Given the description of an element on the screen output the (x, y) to click on. 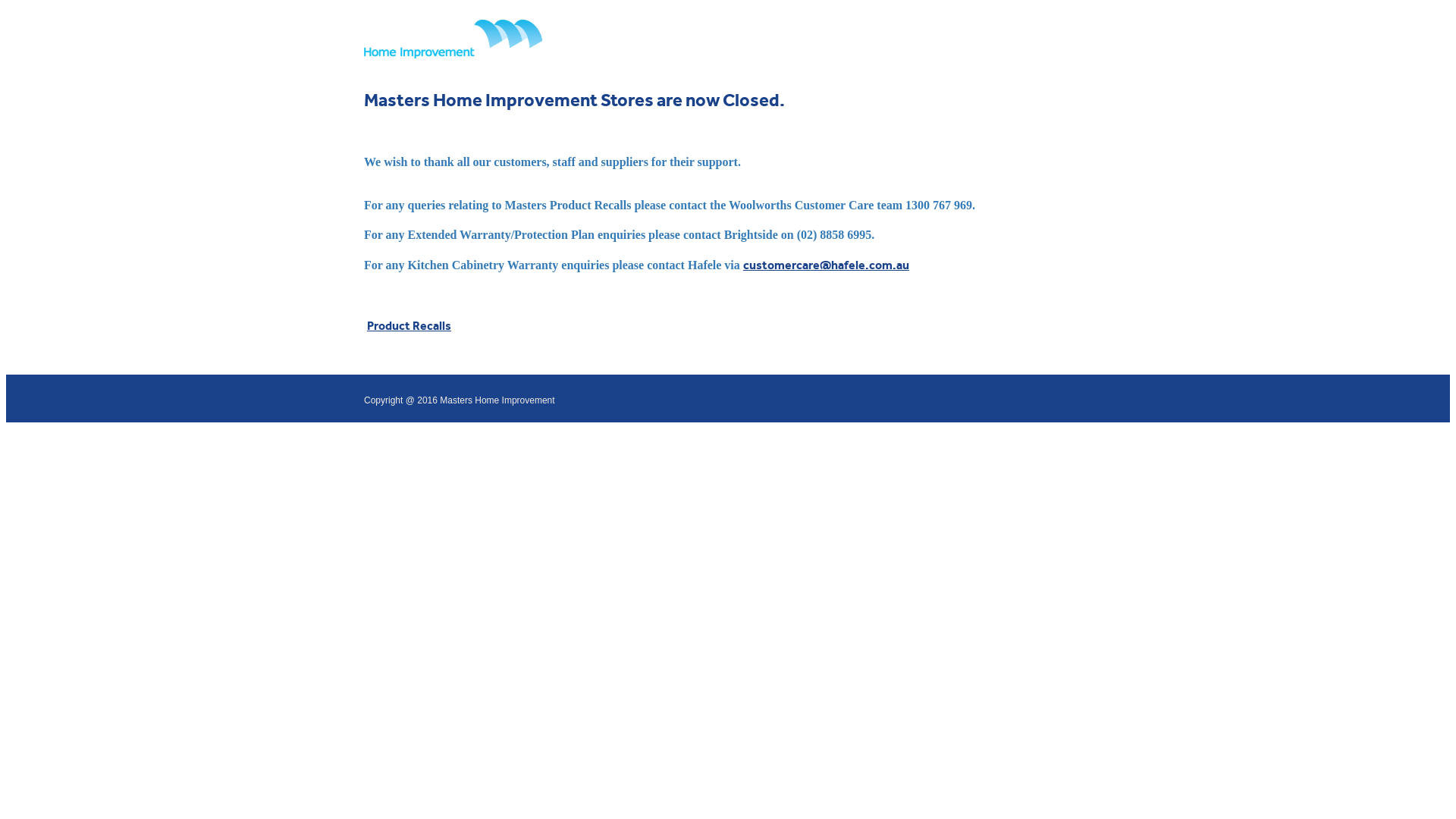
Product Recalls Element type: text (409, 325)
customercare@hafele.com.au Element type: text (826, 264)
